Given the description of an element on the screen output the (x, y) to click on. 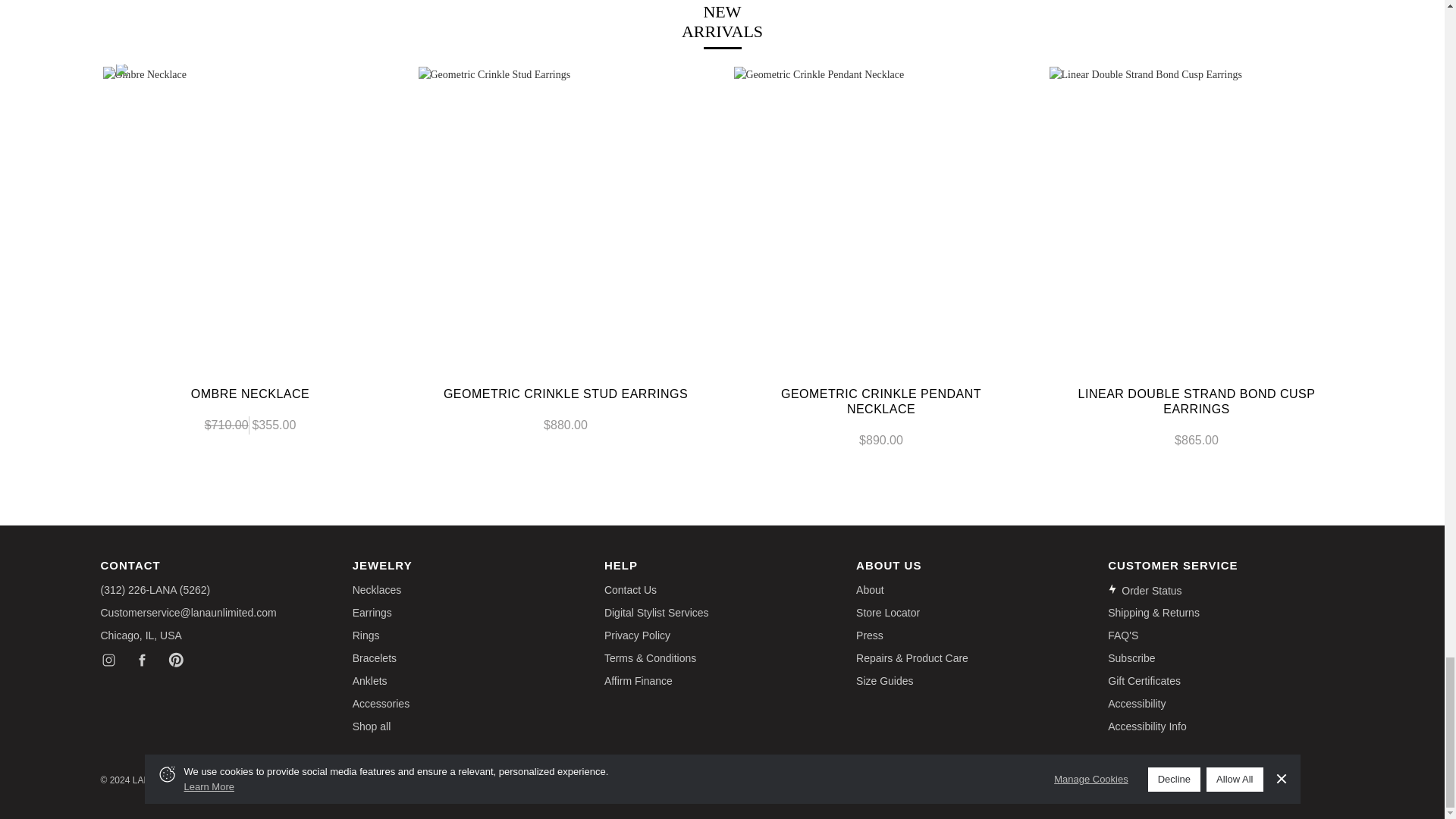
facebook (141, 659)
instagram (108, 659)
Linear Double Strand Bond Cusp Earrings (1196, 213)
Geometric Crinkle Stud Earrings (566, 213)
Ombre Necklace (250, 213)
Geometric Crinkle Pendant Necklace (881, 213)
